Given the description of an element on the screen output the (x, y) to click on. 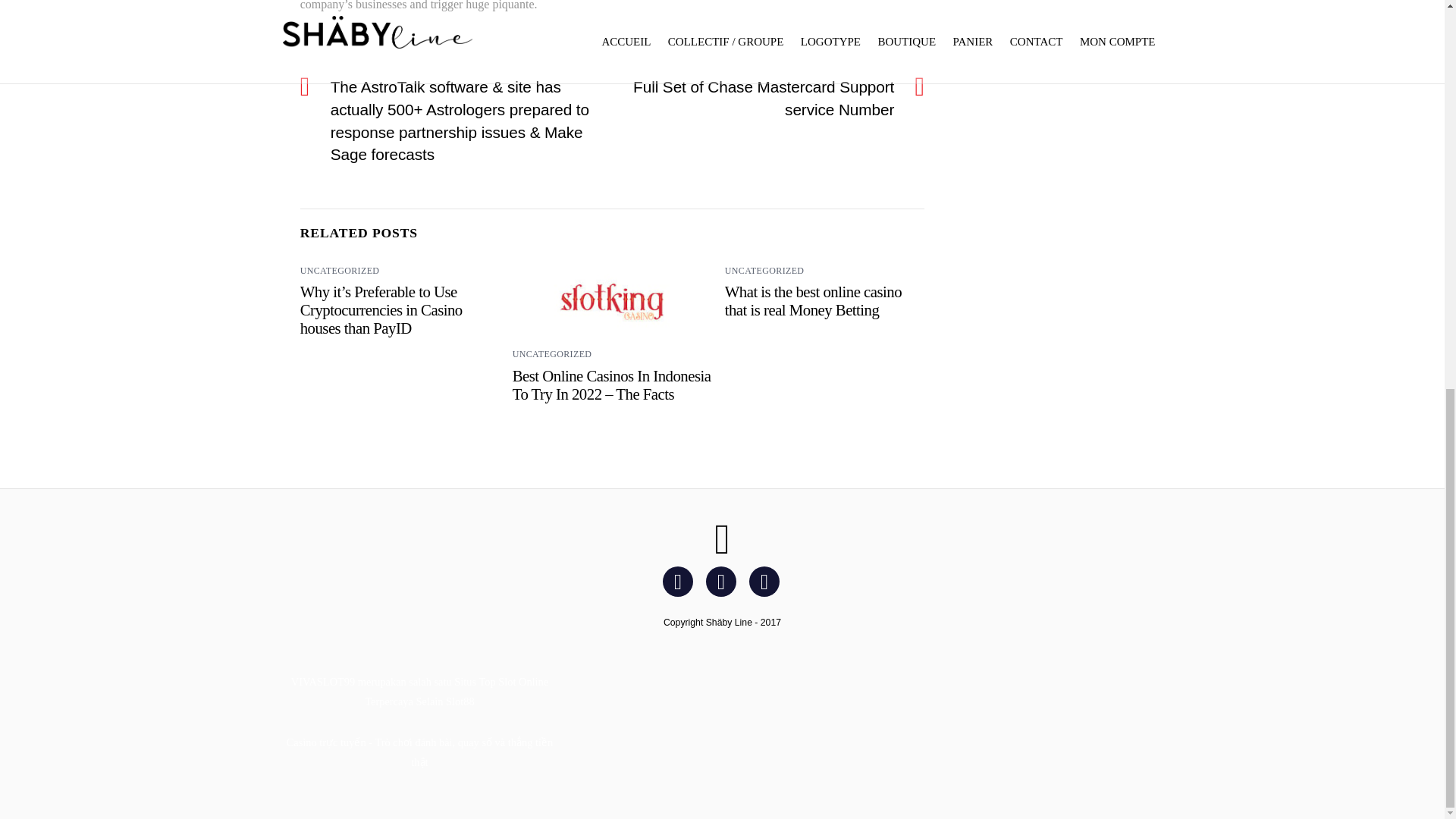
Slot Online (522, 681)
UNCATEGORIZED (339, 270)
UNCATEGORIZED (765, 270)
Full Set of Chase Mastercard Support service Number (761, 98)
What is the best online casino that is real Money Betting (813, 300)
Facebook (680, 580)
YouTube (766, 580)
Instagram (723, 580)
What is the best online casino that is real Money Betting (813, 300)
UNCATEGORIZED (552, 353)
